Given the description of an element on the screen output the (x, y) to click on. 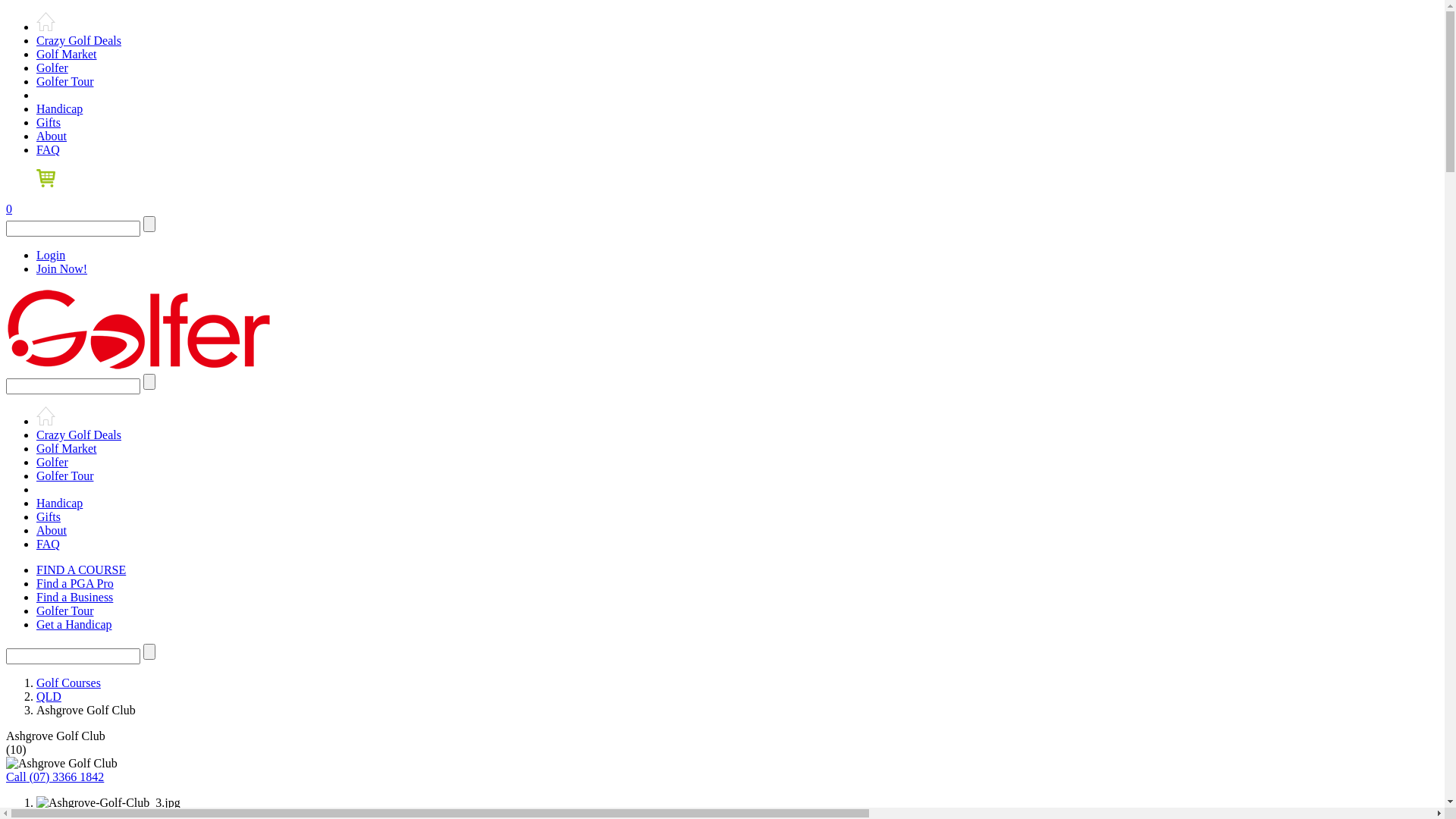
Crazy Golf Deals Element type: text (78, 434)
Login Element type: text (50, 254)
Golfer Tour Element type: text (64, 610)
Handicap Element type: text (59, 108)
1 Element type: text (39, 802)
Golf Market Element type: text (66, 53)
Golfer Tour Element type: text (64, 81)
FIND A COURSE Element type: text (80, 569)
Gifts Element type: text (48, 122)
Golfer Tour Element type: text (64, 475)
Call (07) 3366 1842 Element type: text (54, 776)
Golf Courses Element type: text (68, 682)
Find a Business Element type: text (74, 596)
About Element type: text (51, 530)
About Element type: text (51, 135)
Golfer Element type: text (52, 67)
QLD Element type: text (48, 696)
0 Element type: text (722, 192)
Join Now! Element type: text (61, 268)
Gifts Element type: text (48, 516)
Crazy Golf Deals Element type: text (78, 40)
Golf Market Element type: text (66, 448)
FAQ Element type: text (47, 543)
Golfer Element type: text (52, 461)
Find a PGA Pro Element type: text (74, 583)
Get a Handicap Element type: text (74, 624)
FAQ Element type: text (47, 149)
Handicap Element type: text (59, 502)
